Given the description of an element on the screen output the (x, y) to click on. 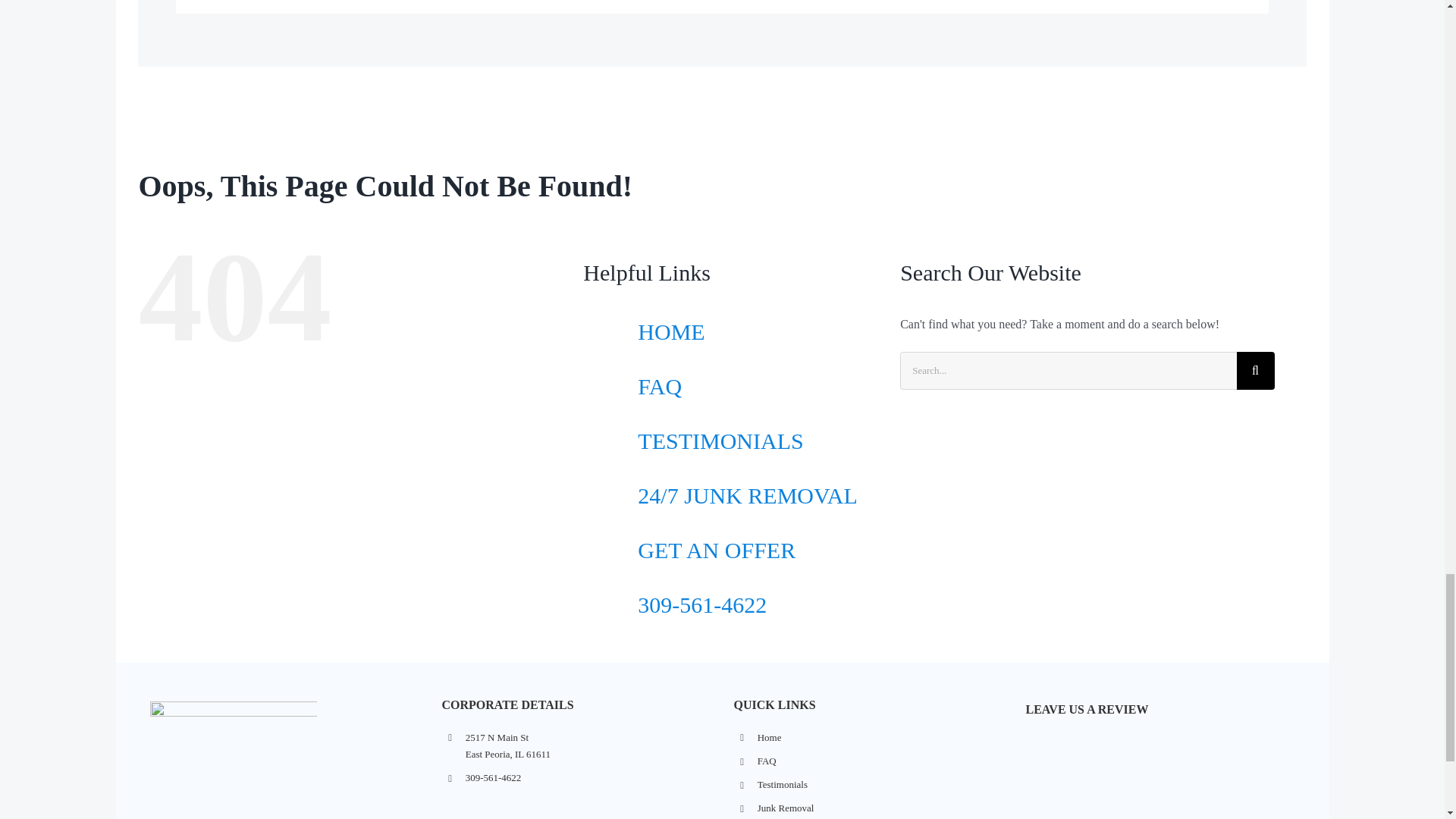
Home (880, 737)
FAQ (880, 760)
HOME (670, 331)
309-561-4622 (588, 777)
TESTIMONIALS (720, 440)
309-561-4622 (702, 604)
Junk Removal (880, 808)
FAQ (659, 385)
